Given the description of an element on the screen output the (x, y) to click on. 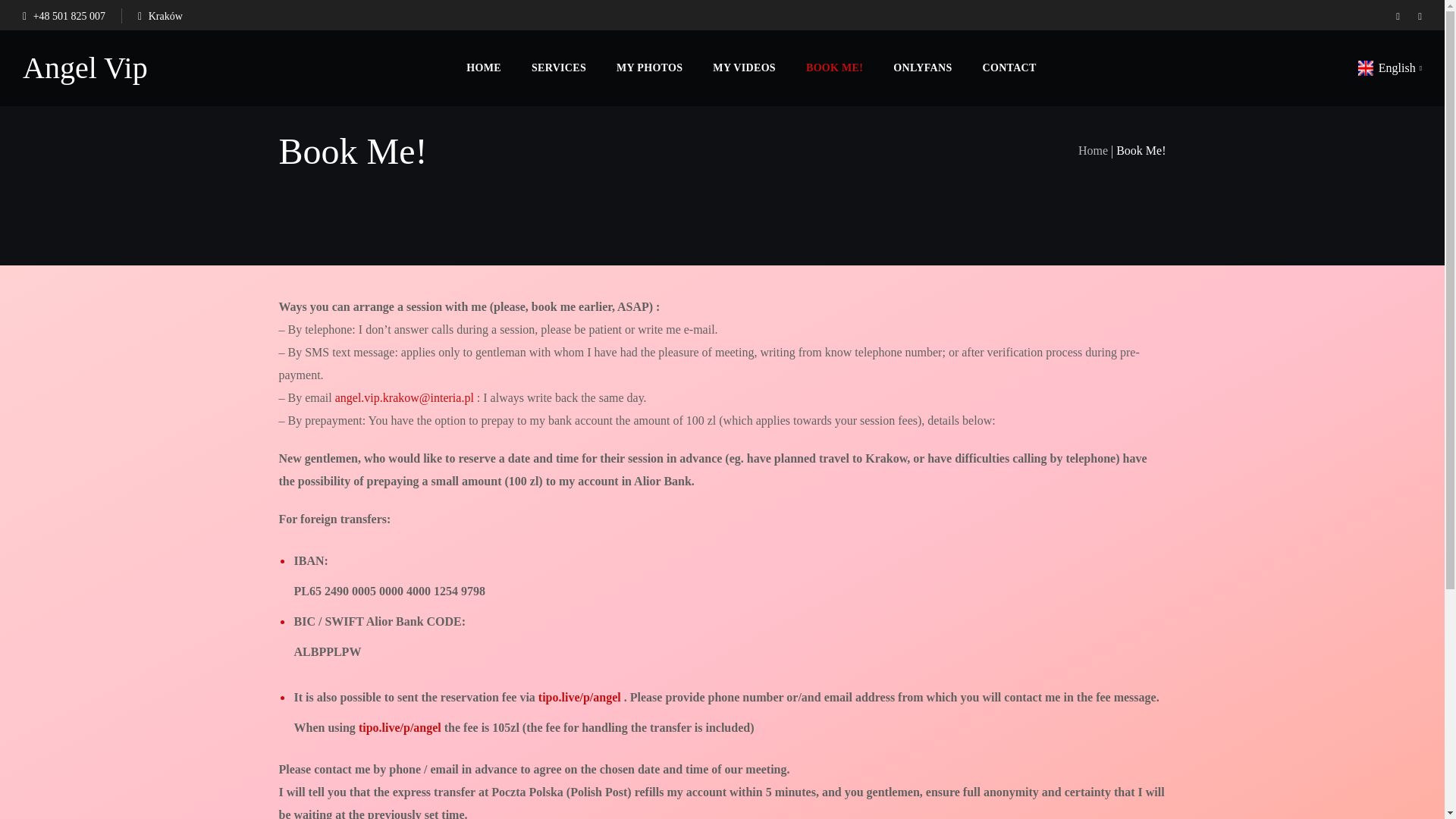
ONLYFANS (921, 68)
MY VIDEOS (743, 68)
CONTACT (1009, 68)
Angel Vip (85, 67)
MY PHOTOS (649, 68)
SERVICES (558, 68)
BOOK ME! (833, 68)
